Given the description of an element on the screen output the (x, y) to click on. 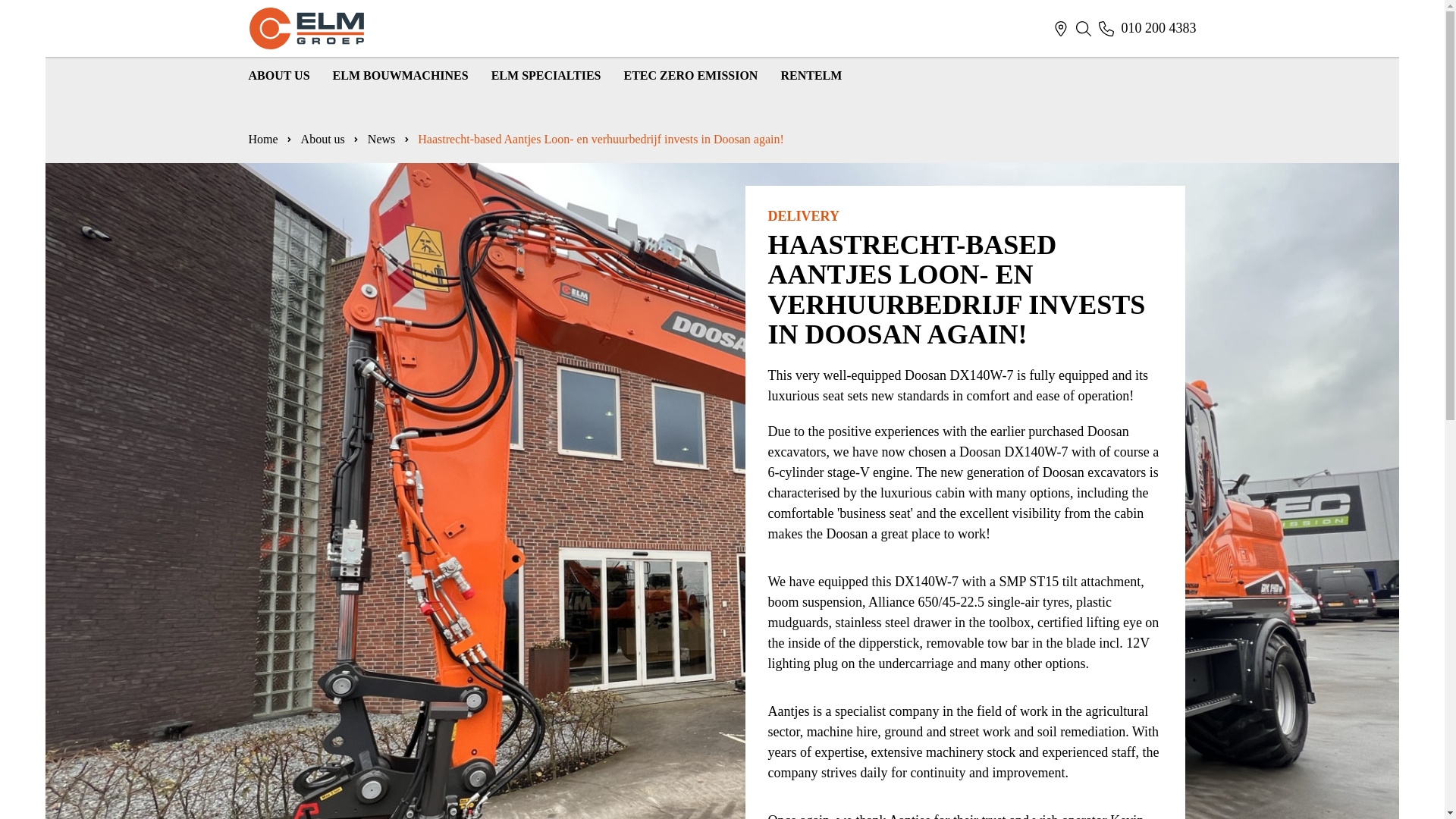
RENTELM (810, 75)
ABOUT US (279, 75)
ETEC ZERO EMISSION (690, 75)
ELM SPECIALTIES (546, 75)
ELM BOUWMACHINES (400, 75)
